Given the description of an element on the screen output the (x, y) to click on. 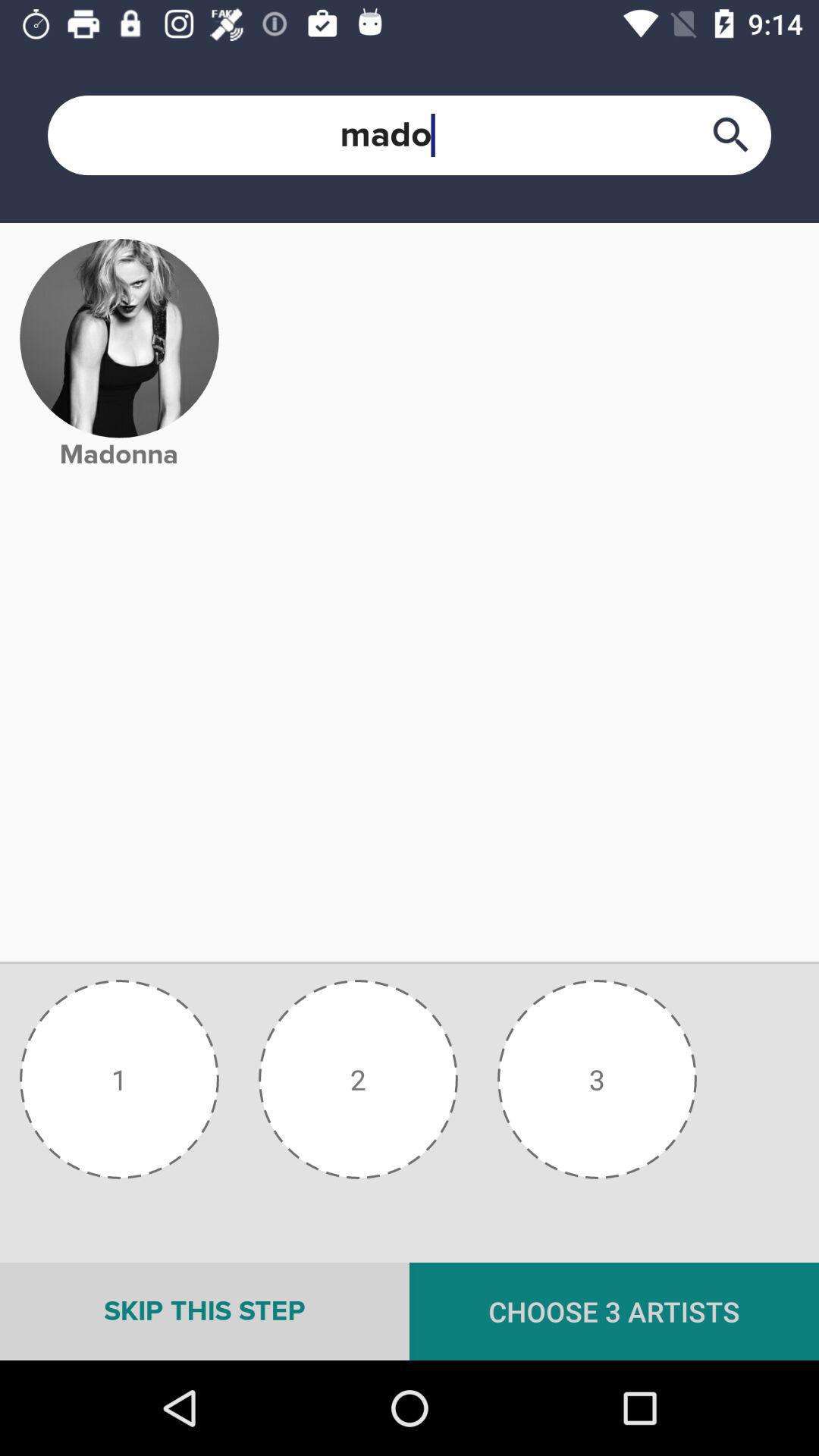
jump to the skip this step (204, 1311)
